Given the description of an element on the screen output the (x, y) to click on. 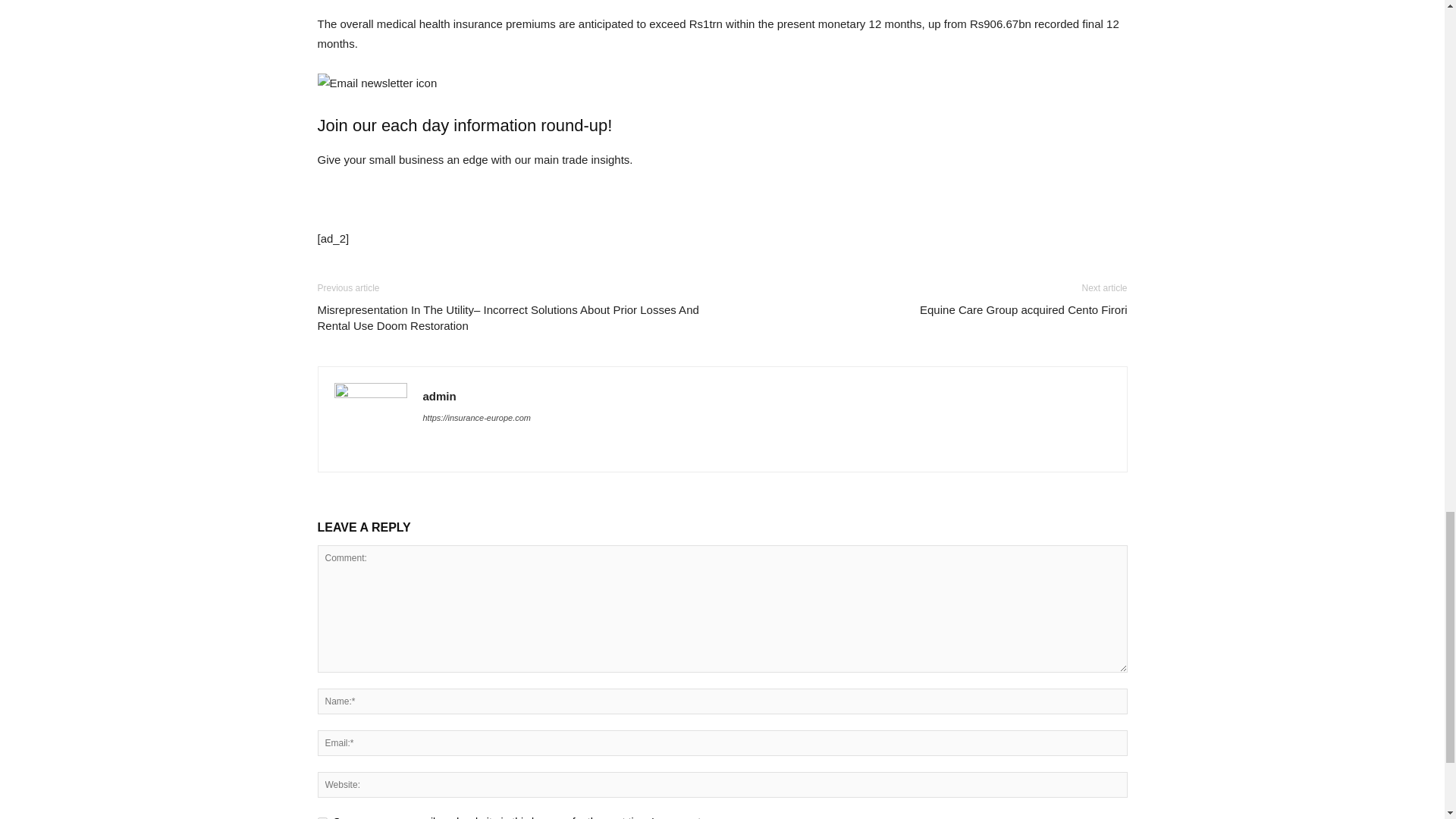
admin (440, 395)
Equine Care Group acquired Cento Firori (1023, 309)
